Given the description of an element on the screen output the (x, y) to click on. 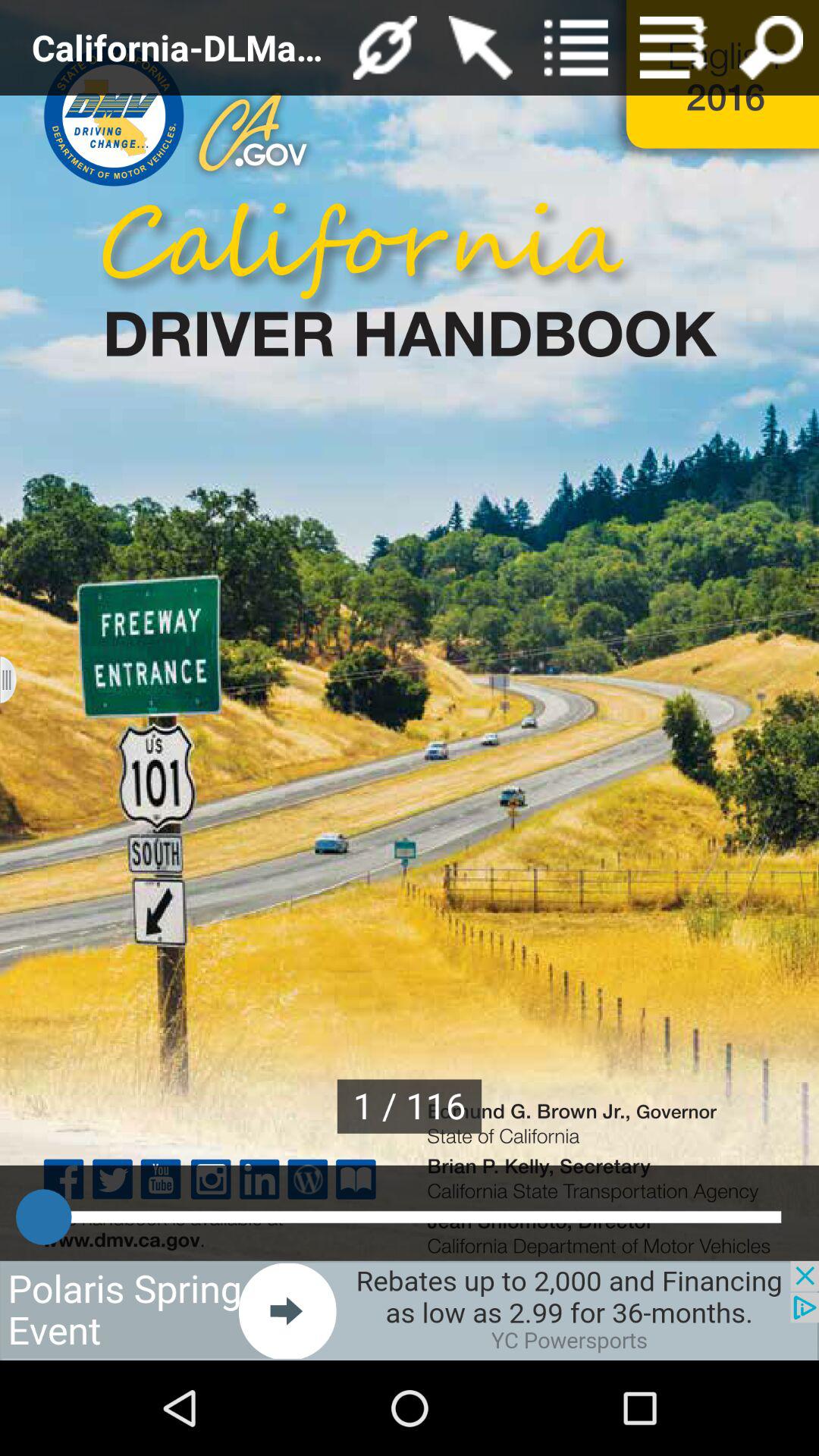
advertisement (409, 1310)
